Given the description of an element on the screen output the (x, y) to click on. 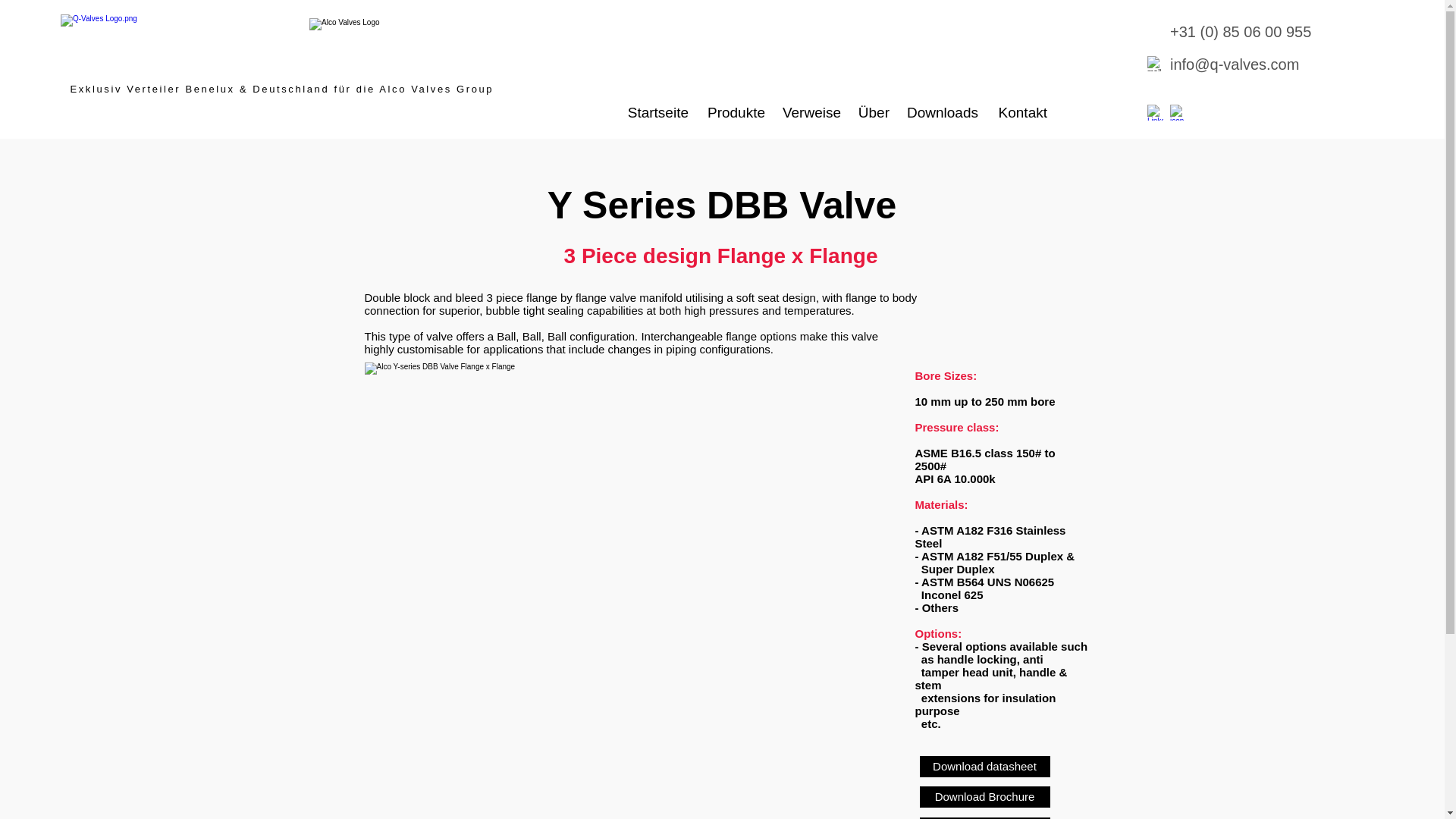
Kontakt (1019, 112)
Downloads (940, 112)
Download datasheet (983, 766)
Produkte (734, 112)
Download Brochure (983, 796)
Startseite (653, 112)
Request for quotation (983, 818)
Verweise (810, 112)
